Given the description of an element on the screen output the (x, y) to click on. 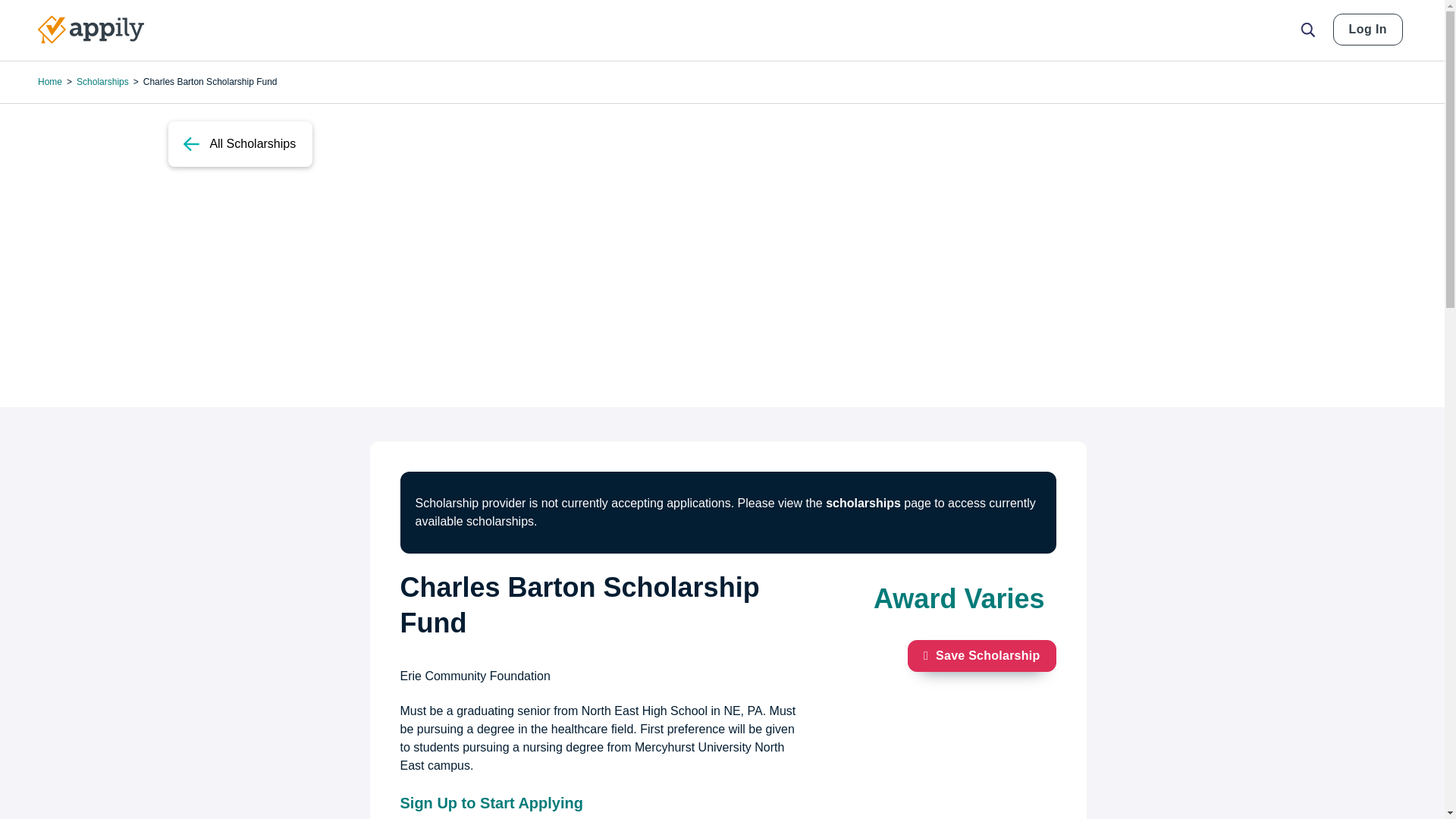
Home (90, 29)
